Given the description of an element on the screen output the (x, y) to click on. 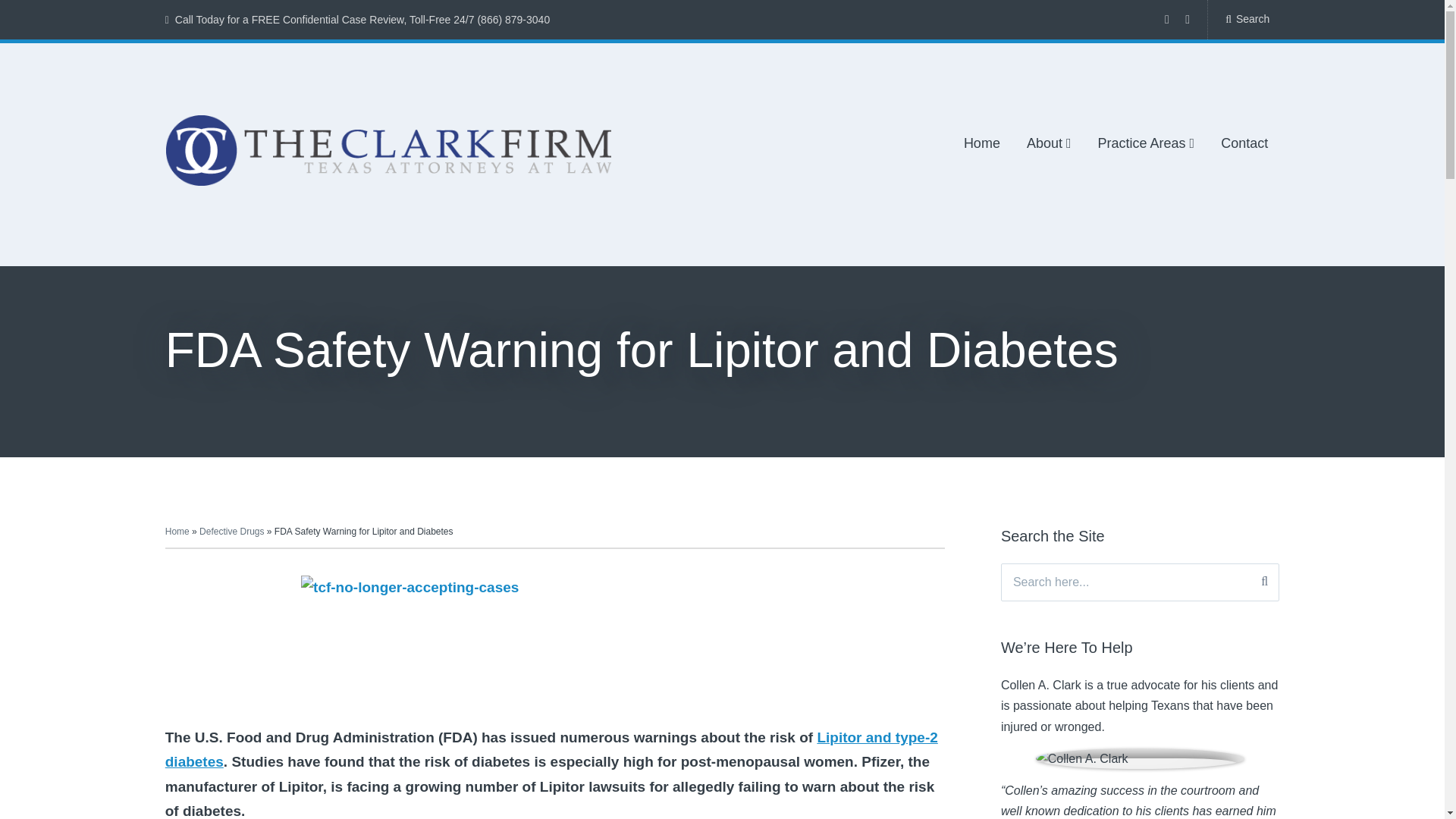
Texas Lipitor Lawyer (551, 749)
About (1048, 143)
Home (981, 143)
